Given the description of an element on the screen output the (x, y) to click on. 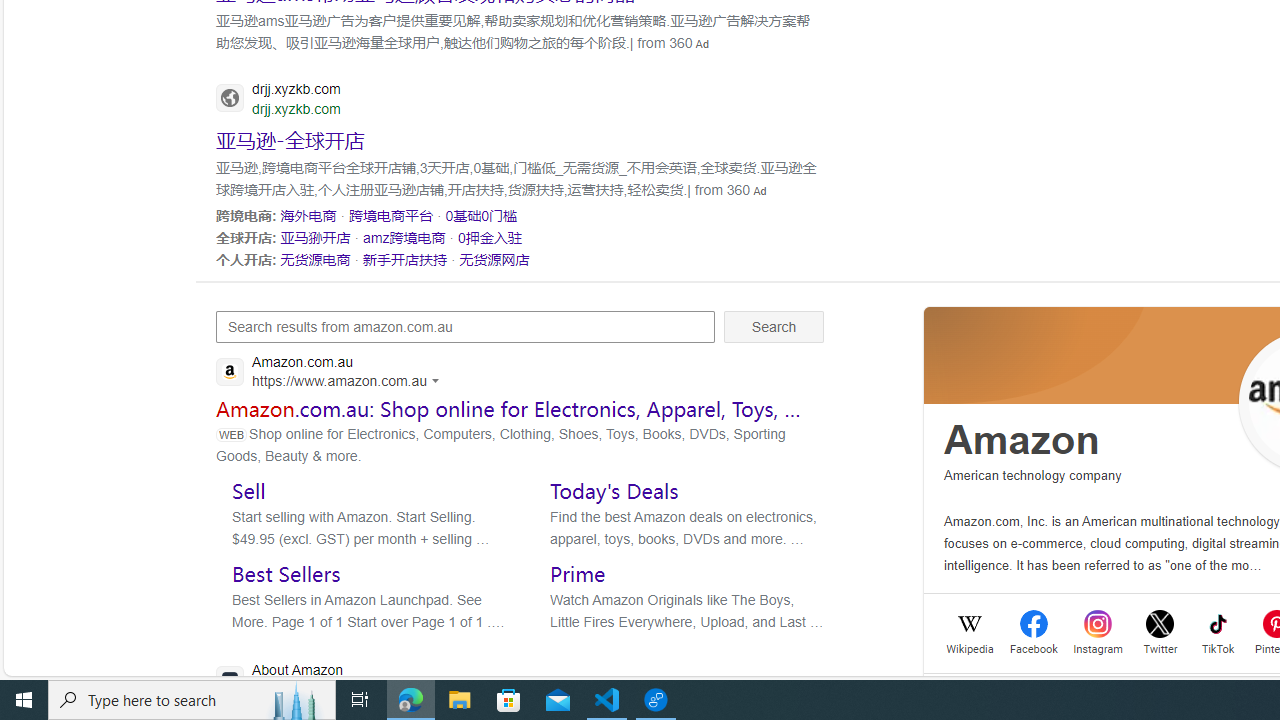
Sell (248, 489)
American technology company (1033, 475)
SERP,5570 (404, 237)
Best Sellers (285, 573)
SERP,5574 (494, 259)
SERP,5564 (290, 138)
Search results from amazon.com.au (465, 326)
SERP,5568 (481, 215)
SERP,5573 (405, 259)
